Given the description of an element on the screen output the (x, y) to click on. 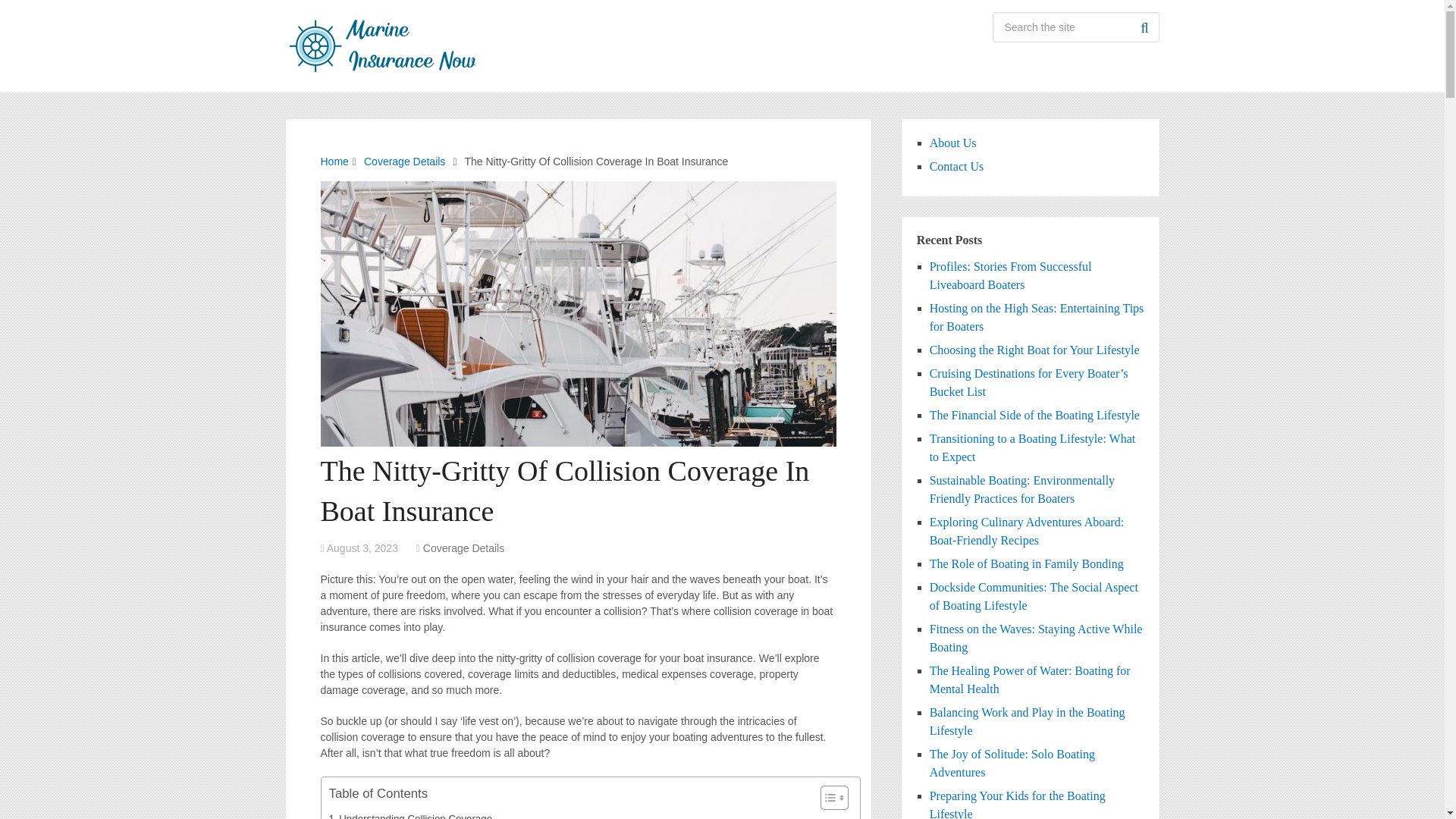
View all posts in Coverage Details (463, 548)
Coverage Details (463, 548)
Coverage Details (404, 161)
Home (333, 161)
Search (1143, 27)
About Us (953, 142)
Understanding Collision Coverage (411, 814)
Understanding Collision Coverage (411, 814)
